Given the description of an element on the screen output the (x, y) to click on. 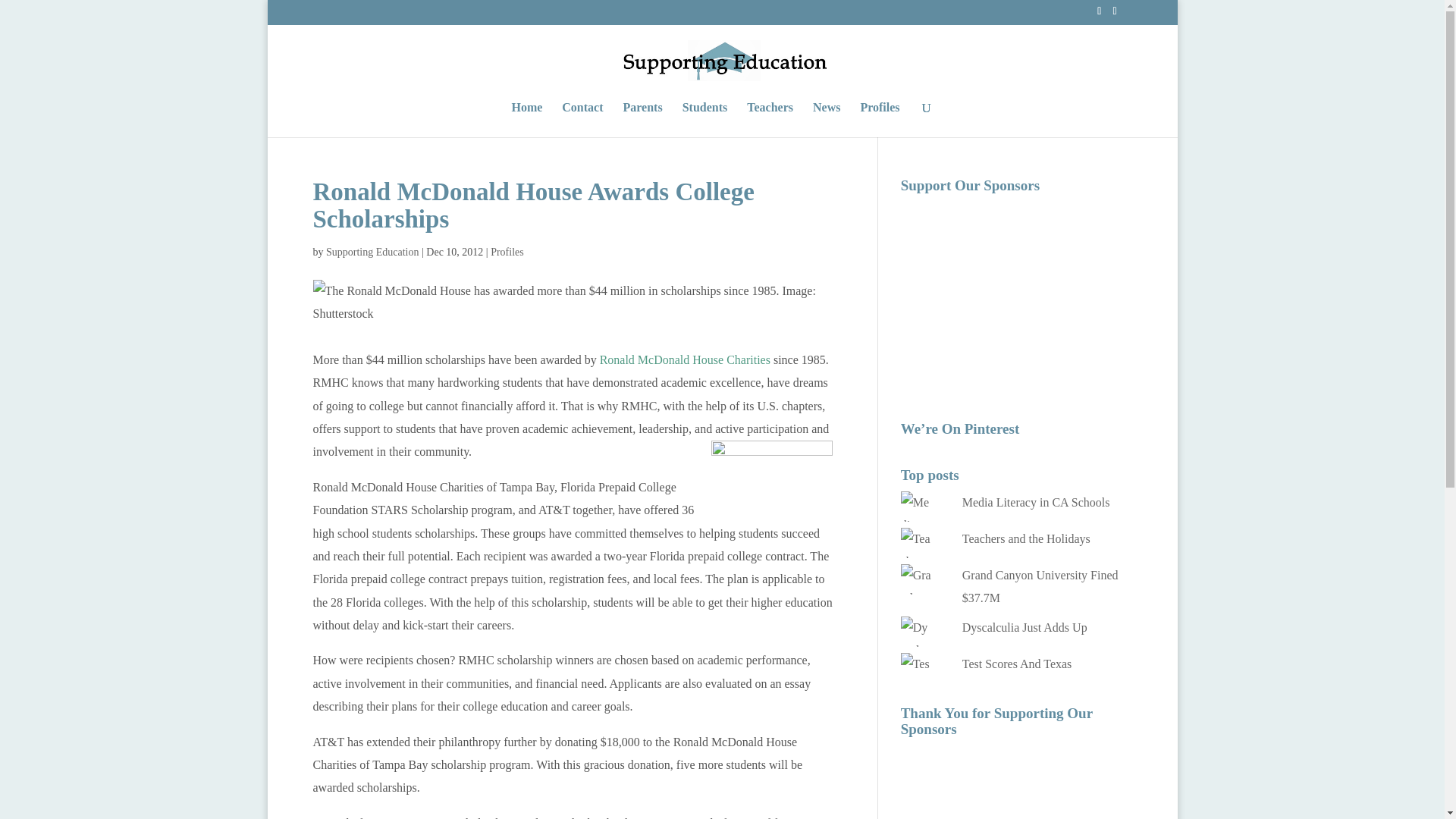
Contact (582, 119)
Supporting Education (372, 251)
Students (705, 119)
Profiles (879, 119)
Media Literacy in CA Schools (1035, 502)
Teachers and the Holidays (1026, 538)
Media Literacy in CA Schools (1035, 502)
Parents (642, 119)
Dyscalculia Just Adds Up (1024, 626)
Dyscalculia Just Adds Up (1024, 626)
